Given the description of an element on the screen output the (x, y) to click on. 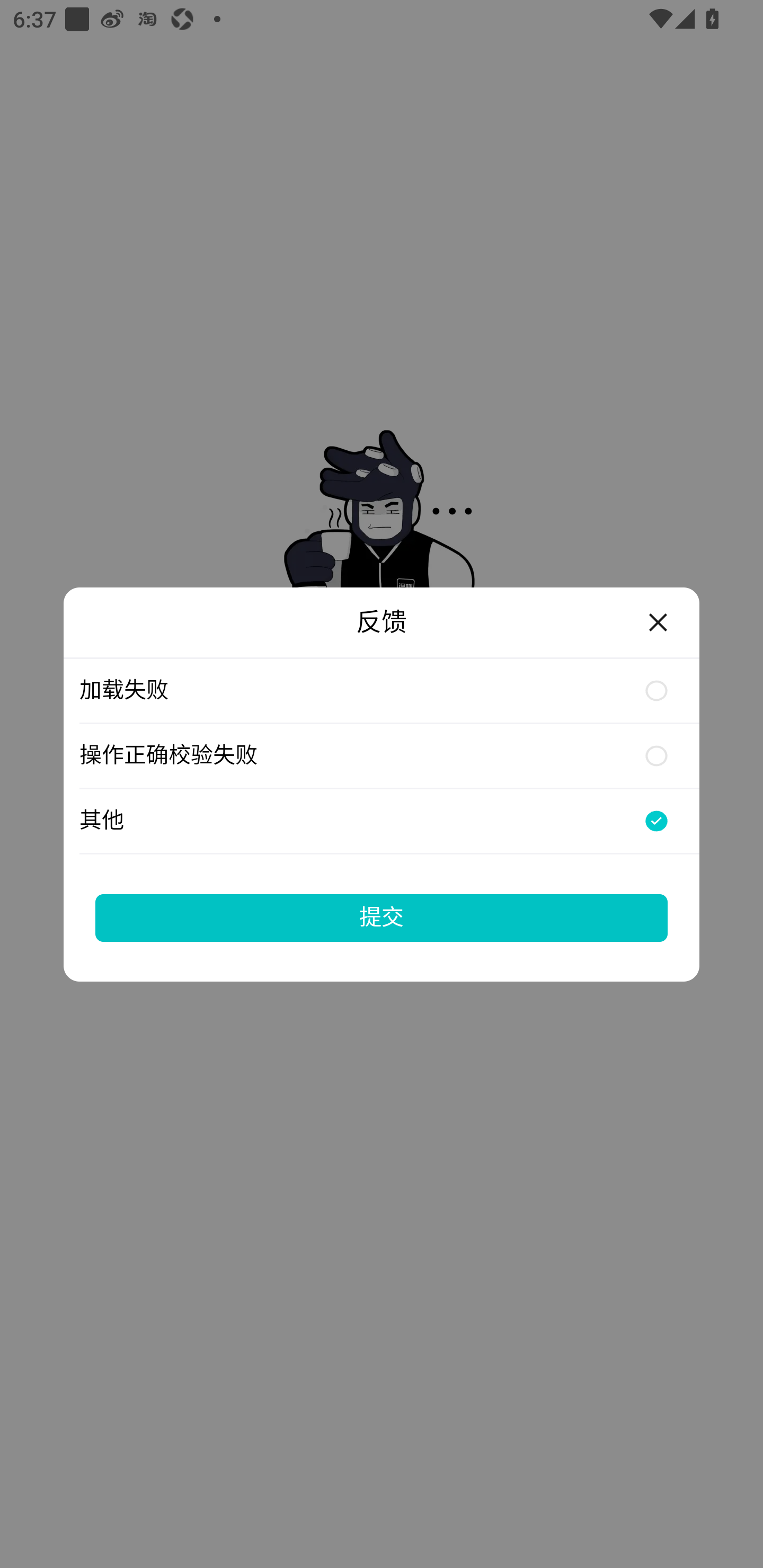
提交 (381, 917)
